Given the description of an element on the screen output the (x, y) to click on. 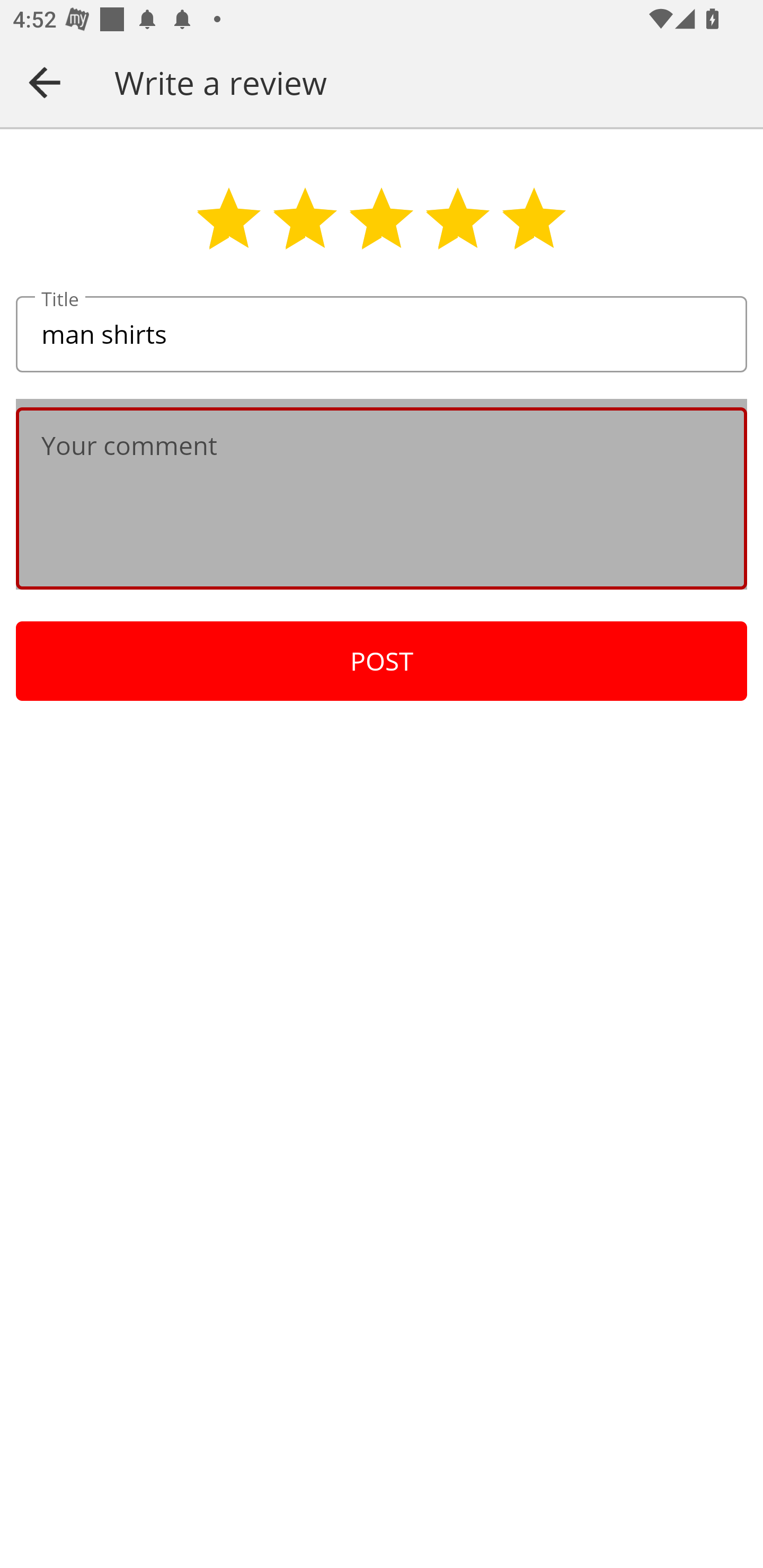
Navigate up (44, 82)
man shirts (381, 334)
Your comment (381, 498)
POST (381, 660)
